Given the description of an element on the screen output the (x, y) to click on. 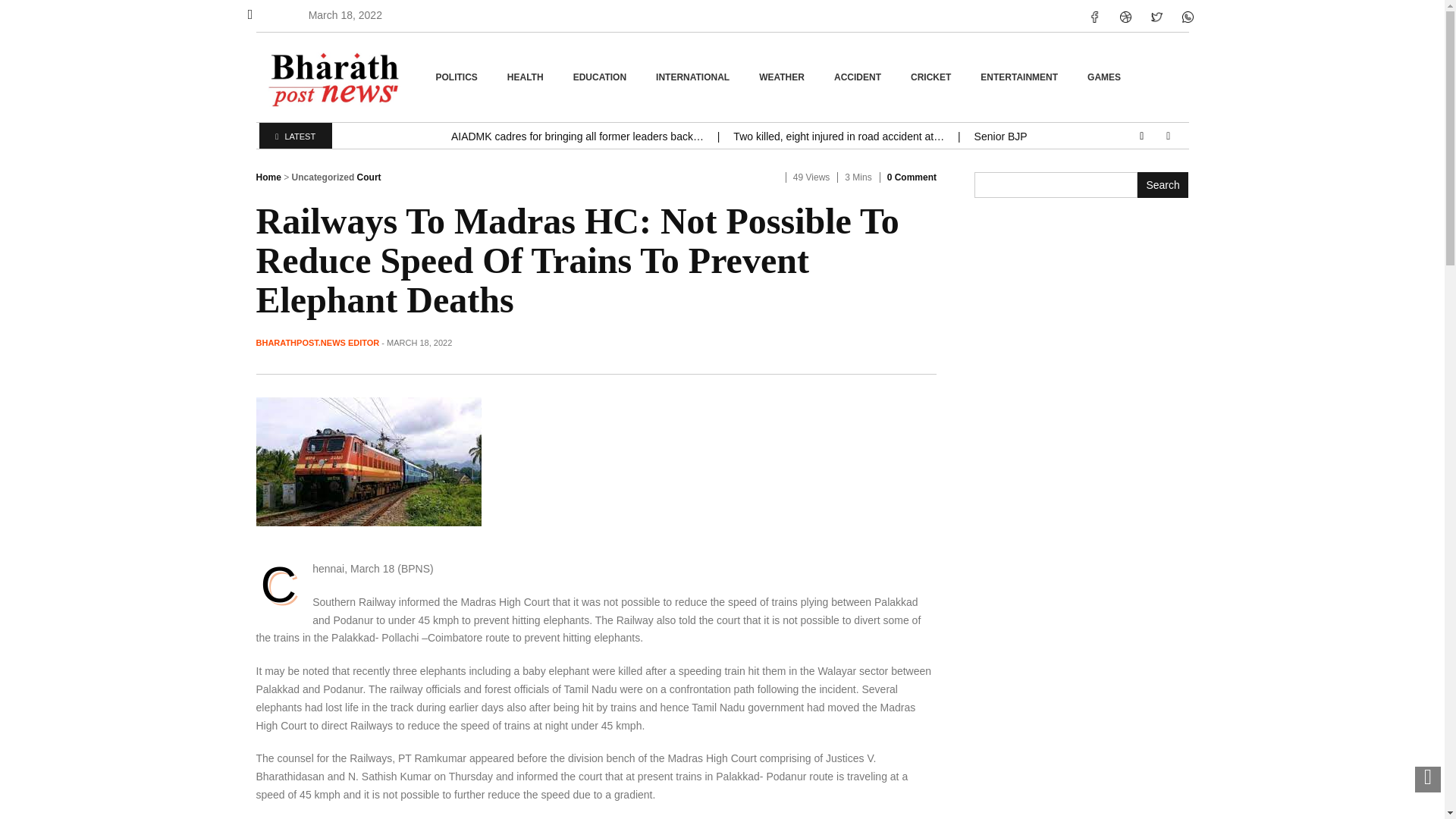
Twitter (1156, 16)
ACCIDENT (859, 77)
Facebook (1094, 16)
WEATHER (783, 77)
BHARATHPOST.NEWS EDITOR (318, 342)
POLITICS (459, 77)
ENTERTAINMENT (1021, 77)
INTERNATIONAL (694, 77)
GAMES (1105, 77)
Search (1163, 184)
